Given the description of an element on the screen output the (x, y) to click on. 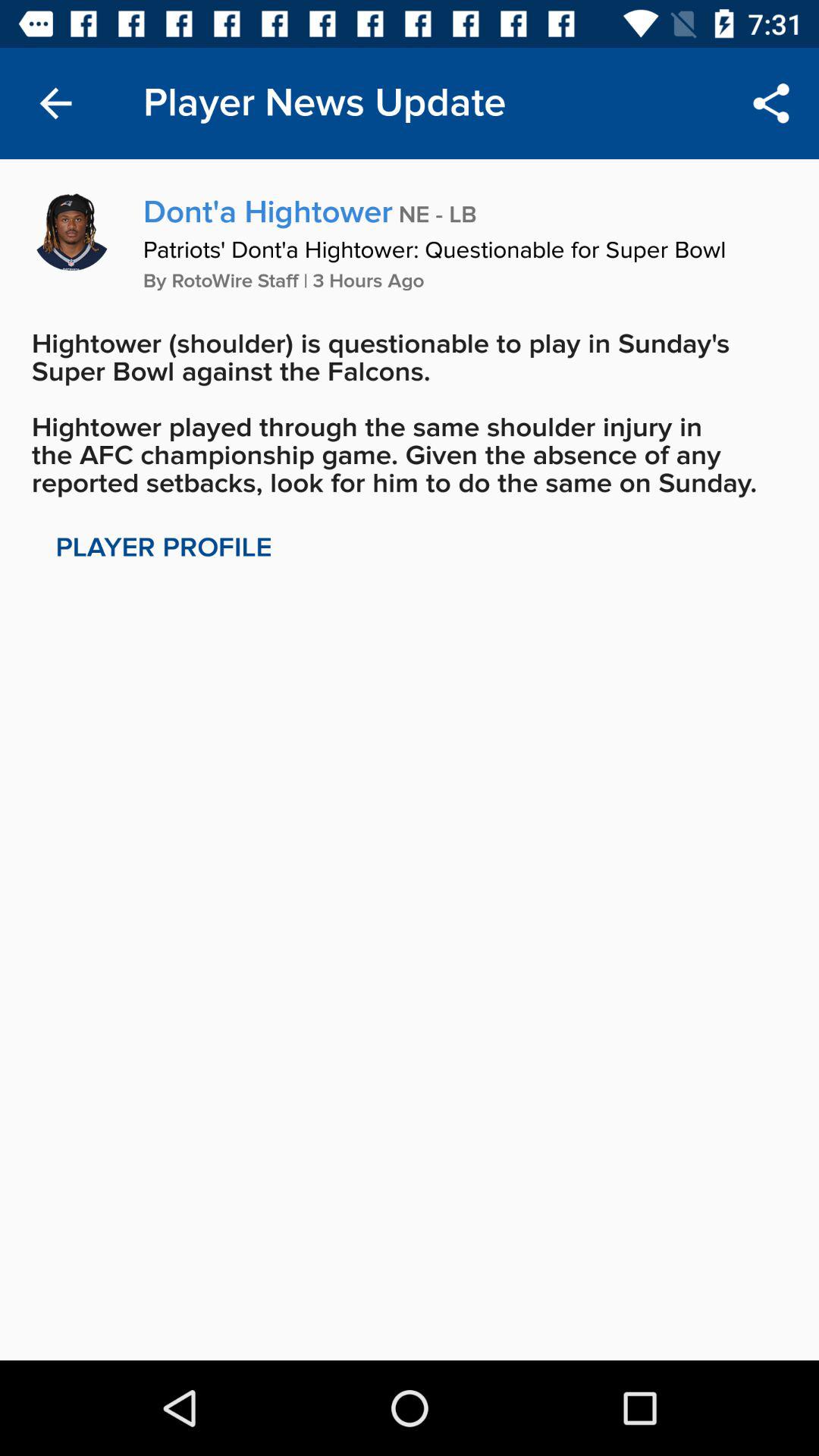
click icon below by rotowire staff (409, 413)
